Given the description of an element on the screen output the (x, y) to click on. 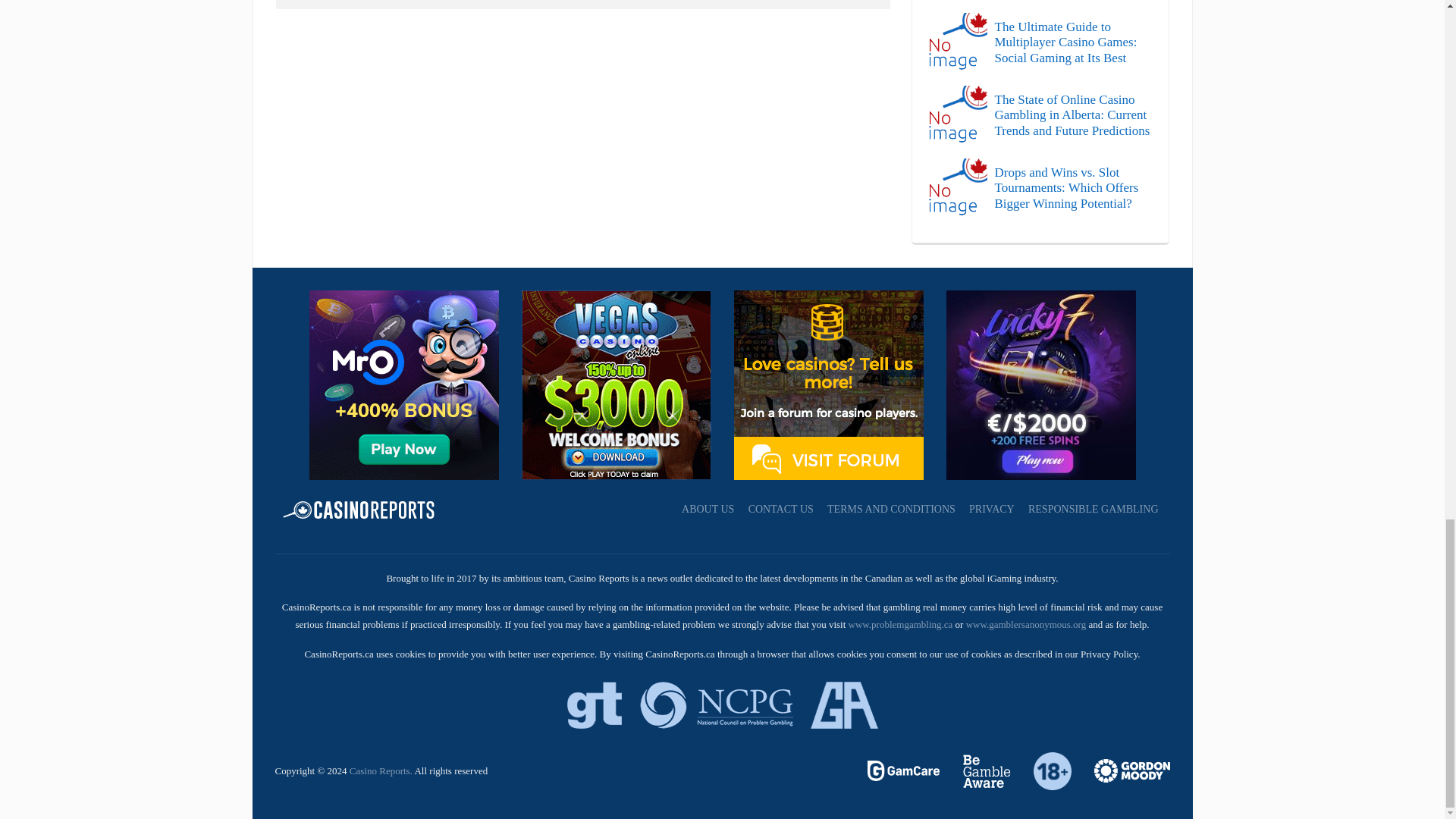
Responsible Gambling (1043, 769)
Game Care (904, 769)
Gamble Aware (977, 769)
Latest Casino Bonuses Forum (828, 383)
Gambling Therapy (1121, 769)
